Given the description of an element on the screen output the (x, y) to click on. 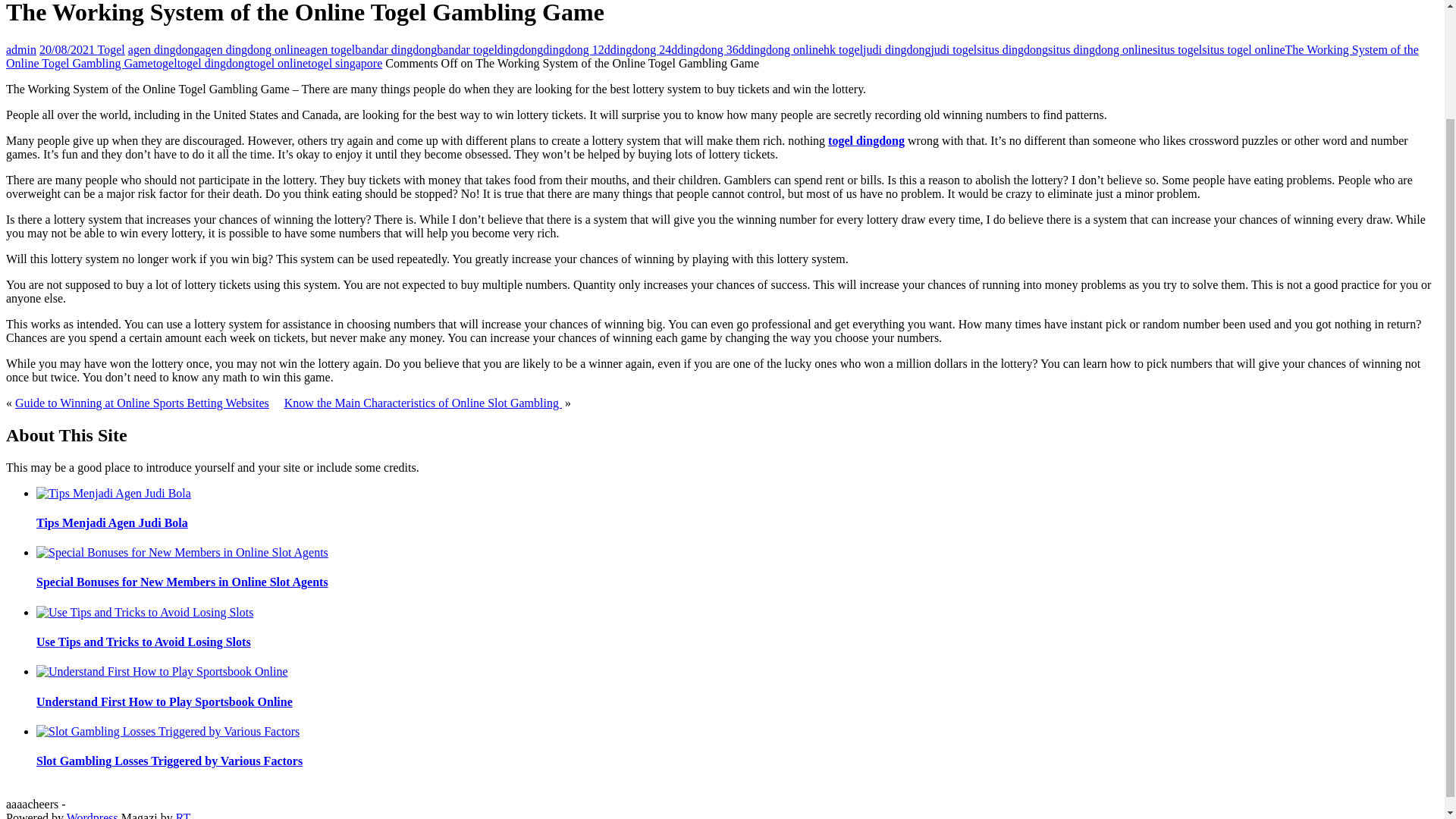
Posts by admin (20, 49)
situs togel online (1243, 49)
Know the Main Characteristics of Online Slot Gambling  (422, 402)
togel dingdong (213, 62)
togel (164, 62)
agen dingdong (164, 49)
situs togel (1177, 49)
togel singapore (344, 62)
Guide to Winning at Online Sports Betting Websites (141, 402)
situs dingdong online (1100, 49)
judi dingdong (896, 49)
togel online (278, 62)
agen togel (329, 49)
dingdong 36d (710, 49)
admin (20, 49)
